Given the description of an element on the screen output the (x, y) to click on. 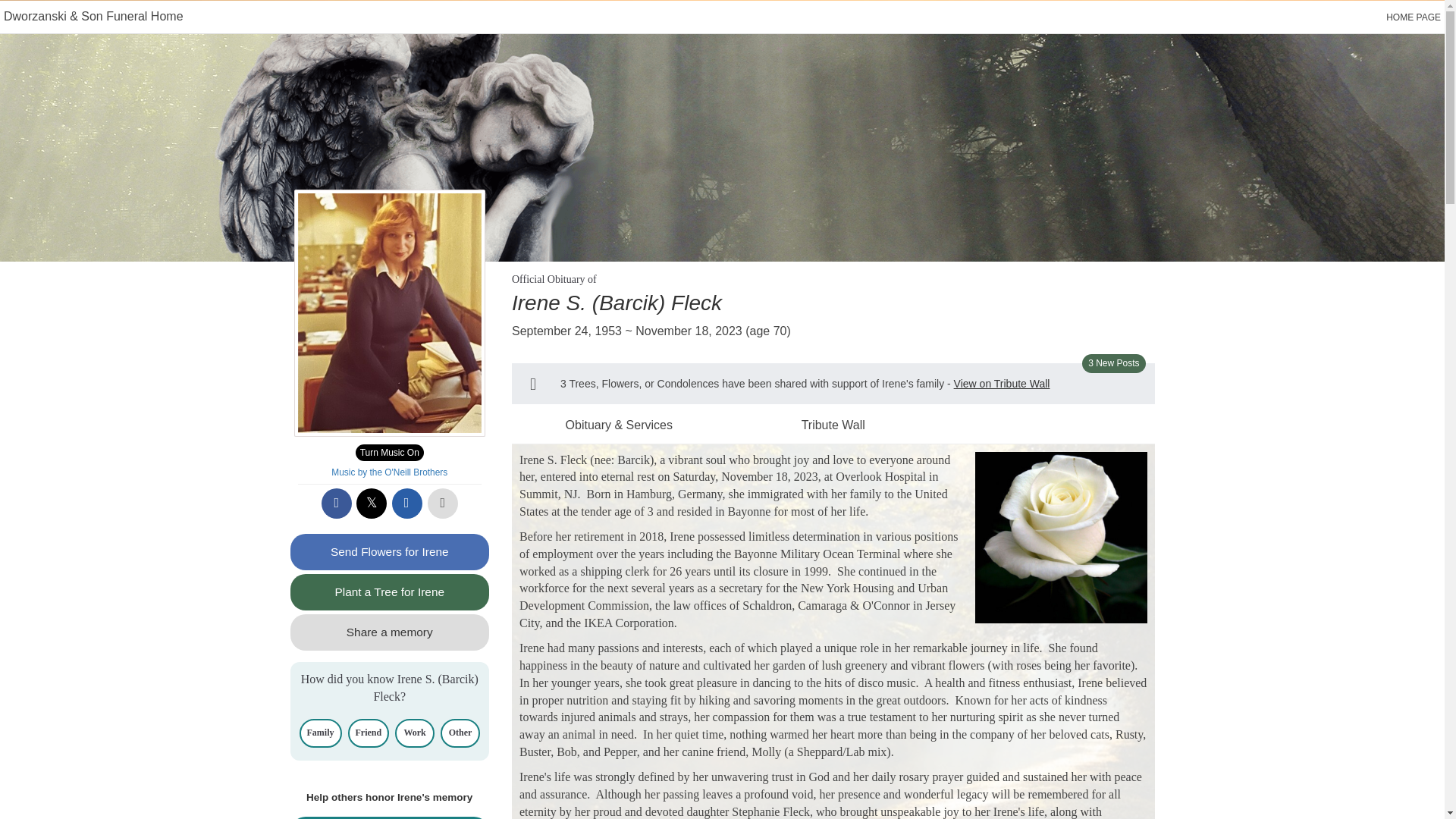
Share a memory (389, 632)
Share to Facebook (336, 503)
Share on X (371, 503)
View on Tribute Wall (1001, 383)
Plant a Tree for Irene (389, 592)
Send Flowers for Irene (389, 551)
Music by the O'Neill Brothers (388, 471)
Printable copy (443, 503)
HOME PAGE (1413, 17)
Turn Music On (389, 452)
Share Obituary (389, 817)
Share via email (406, 503)
